Given the description of an element on the screen output the (x, y) to click on. 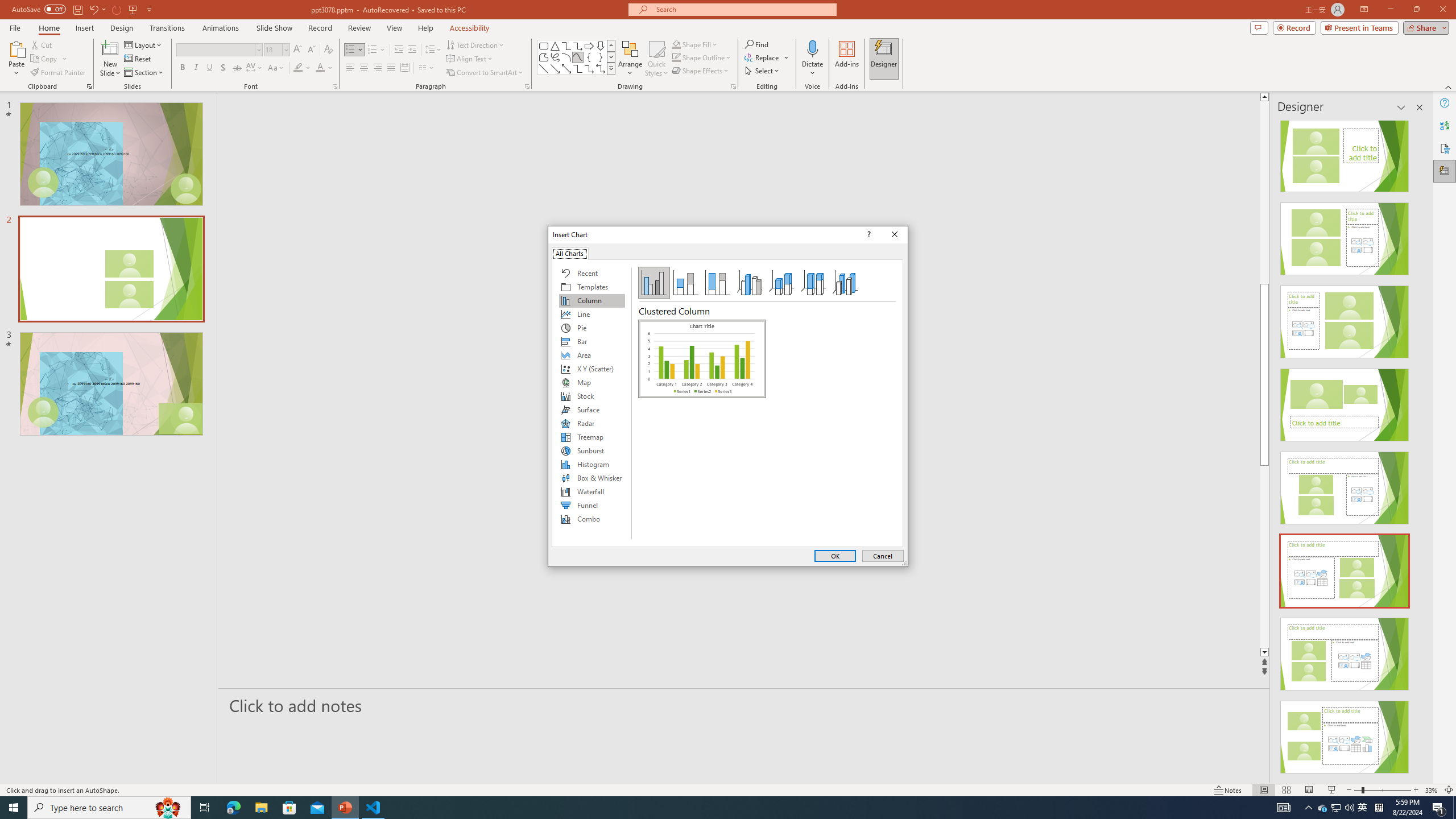
Funnel (591, 505)
Stock (591, 395)
100% Stacked Column (717, 282)
Clustered Column (701, 358)
Pie (591, 327)
